Given the description of an element on the screen output the (x, y) to click on. 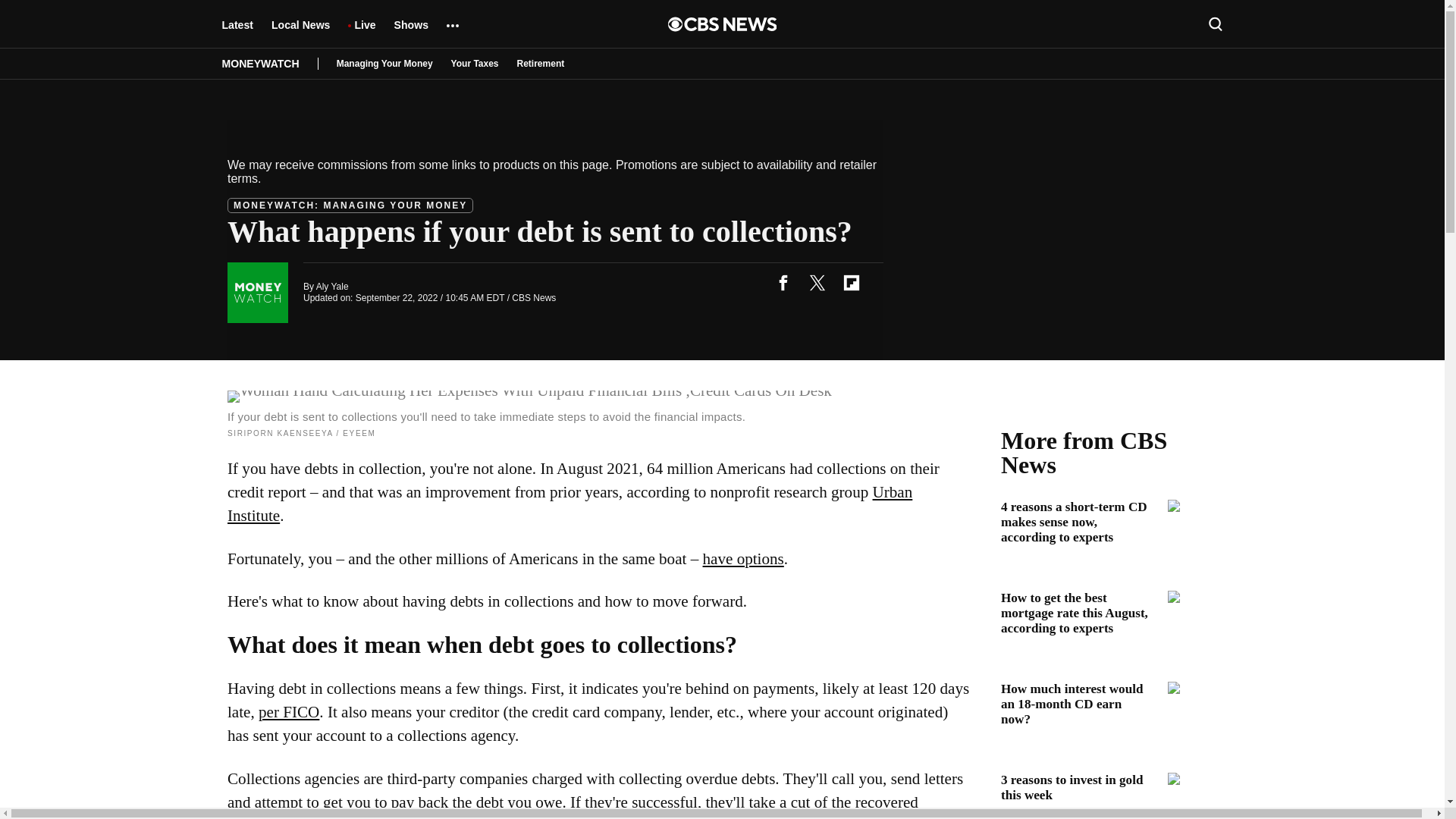
facebook (782, 282)
Local News (300, 31)
twitter (816, 282)
Latest (236, 31)
flipboard (850, 282)
